Given the description of an element on the screen output the (x, y) to click on. 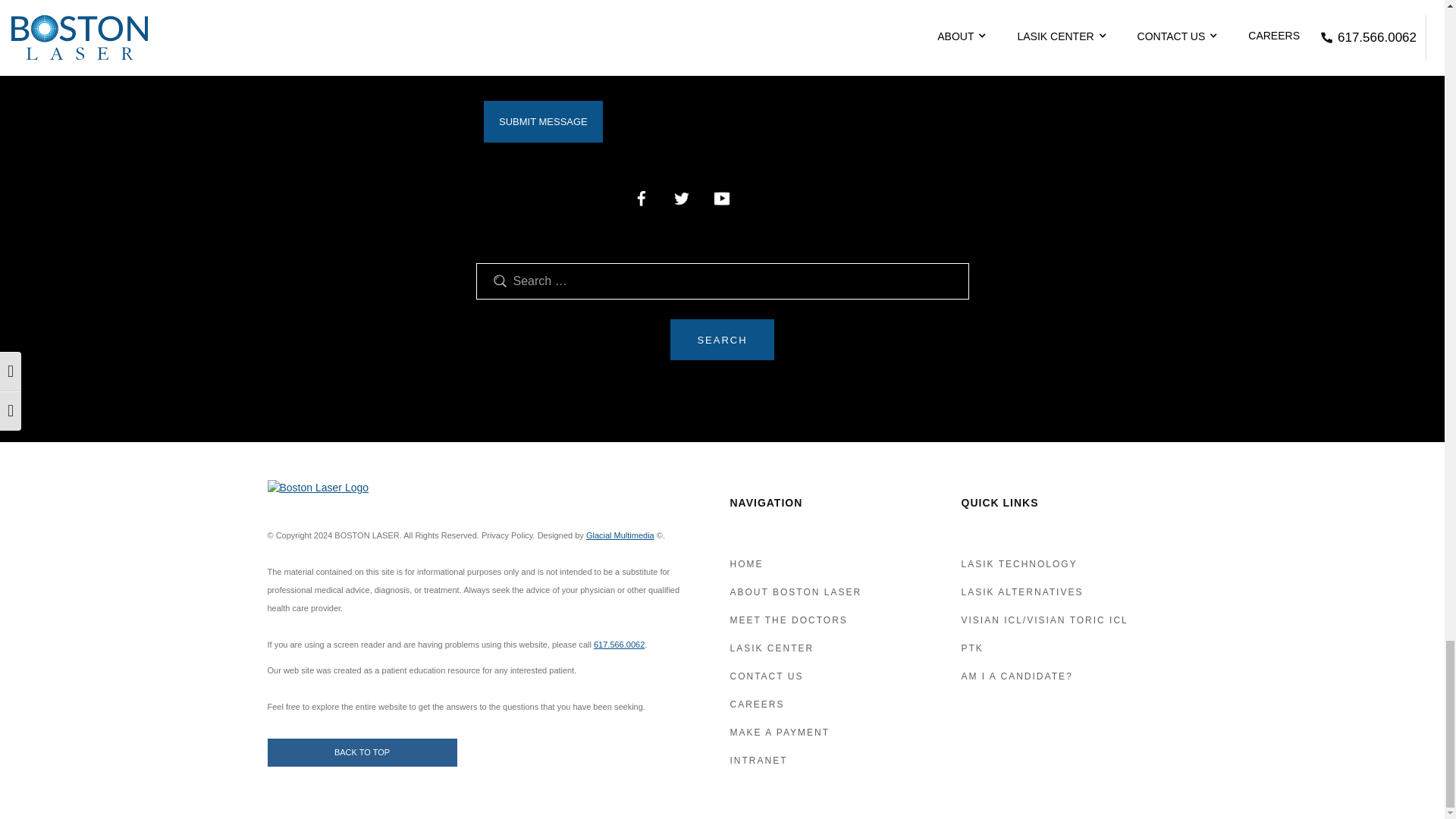
Search (721, 339)
Search (721, 339)
Contact Form (722, 71)
